Given the description of an element on the screen output the (x, y) to click on. 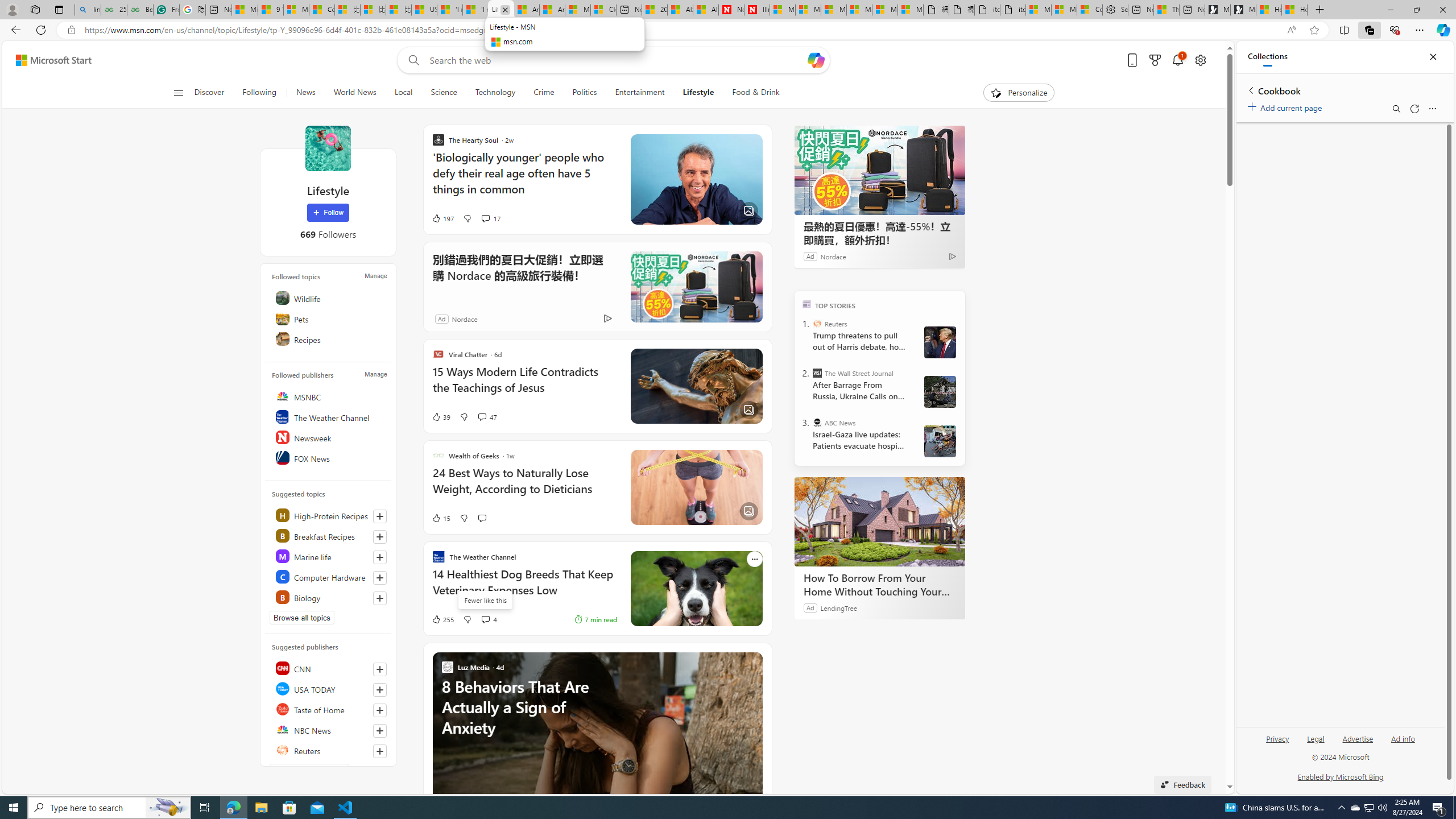
Reuters (328, 750)
Newsweek (328, 437)
25 Basic Linux Commands For Beginners - GeeksforGeeks (114, 9)
Web search (411, 60)
Science (443, 92)
Three Ways To Stop Sweating So Much (1165, 9)
Pets (328, 318)
Ad (440, 318)
World News (355, 92)
Wildlife (328, 298)
